Given the description of an element on the screen output the (x, y) to click on. 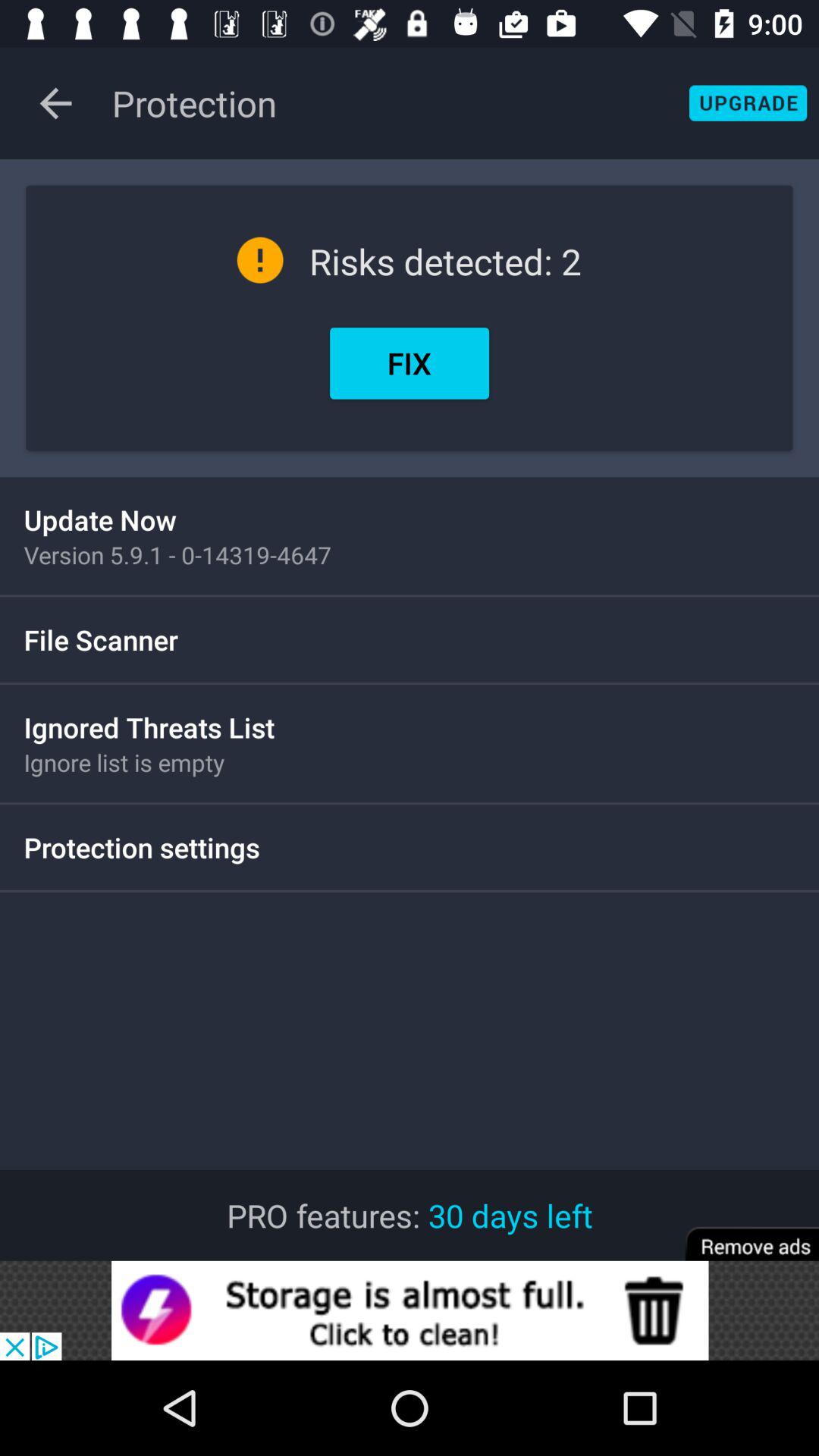
click advertisement (409, 1310)
